Given the description of an element on the screen output the (x, y) to click on. 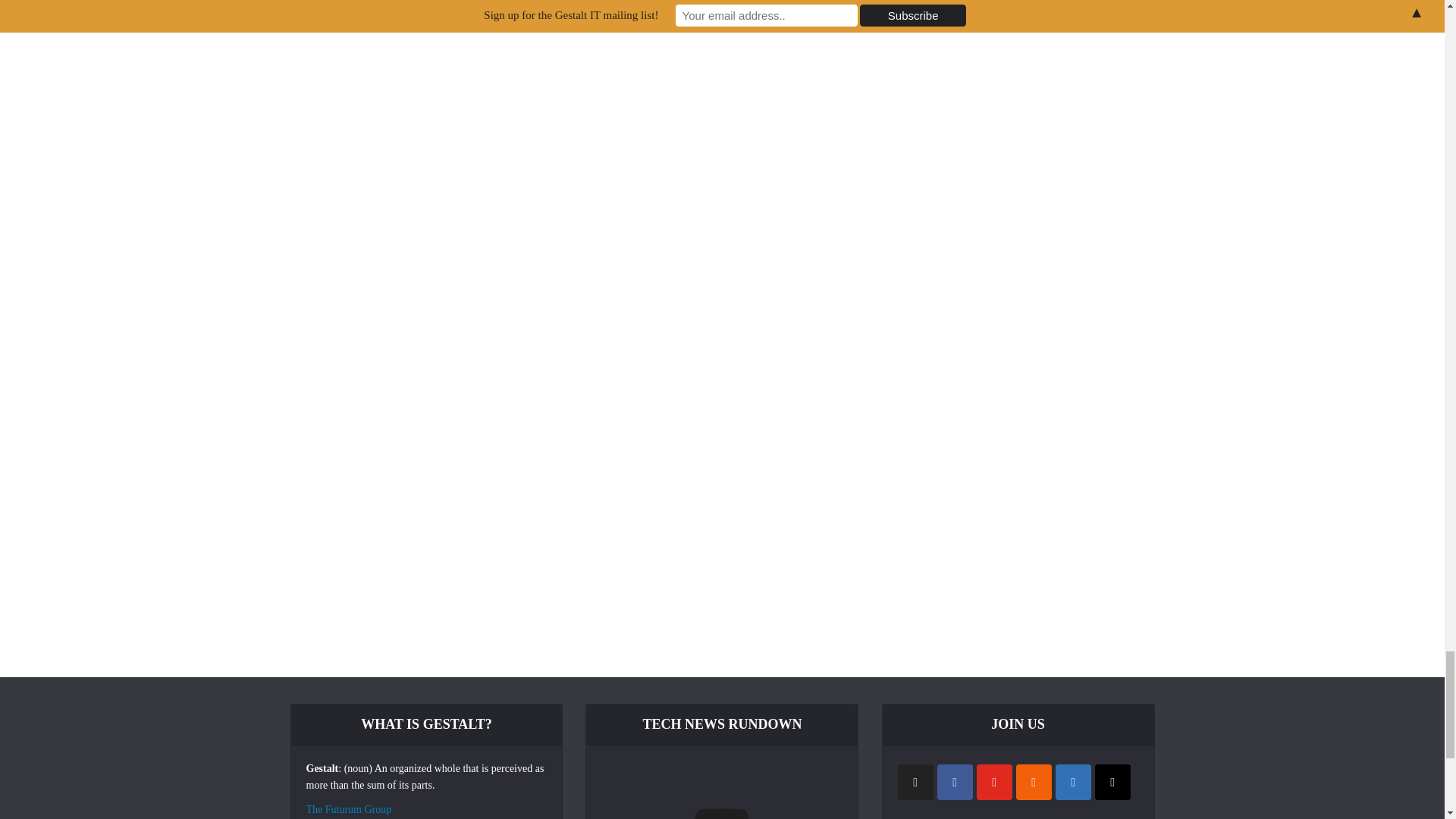
RSS (1033, 782)
Linkedin (1072, 782)
Facebook (954, 782)
Mail (1112, 782)
YouTube (993, 782)
